Given the description of an element on the screen output the (x, y) to click on. 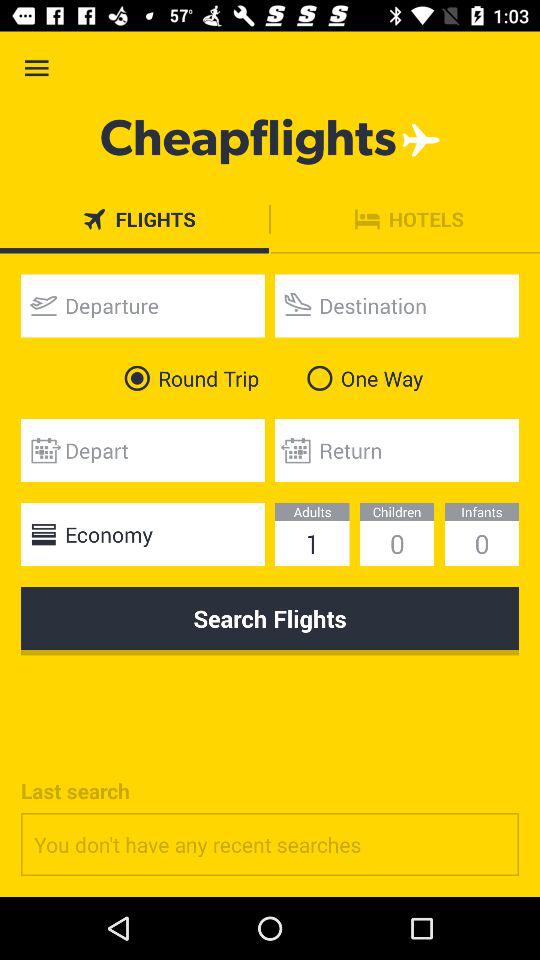
enter departure date (142, 305)
